Given the description of an element on the screen output the (x, y) to click on. 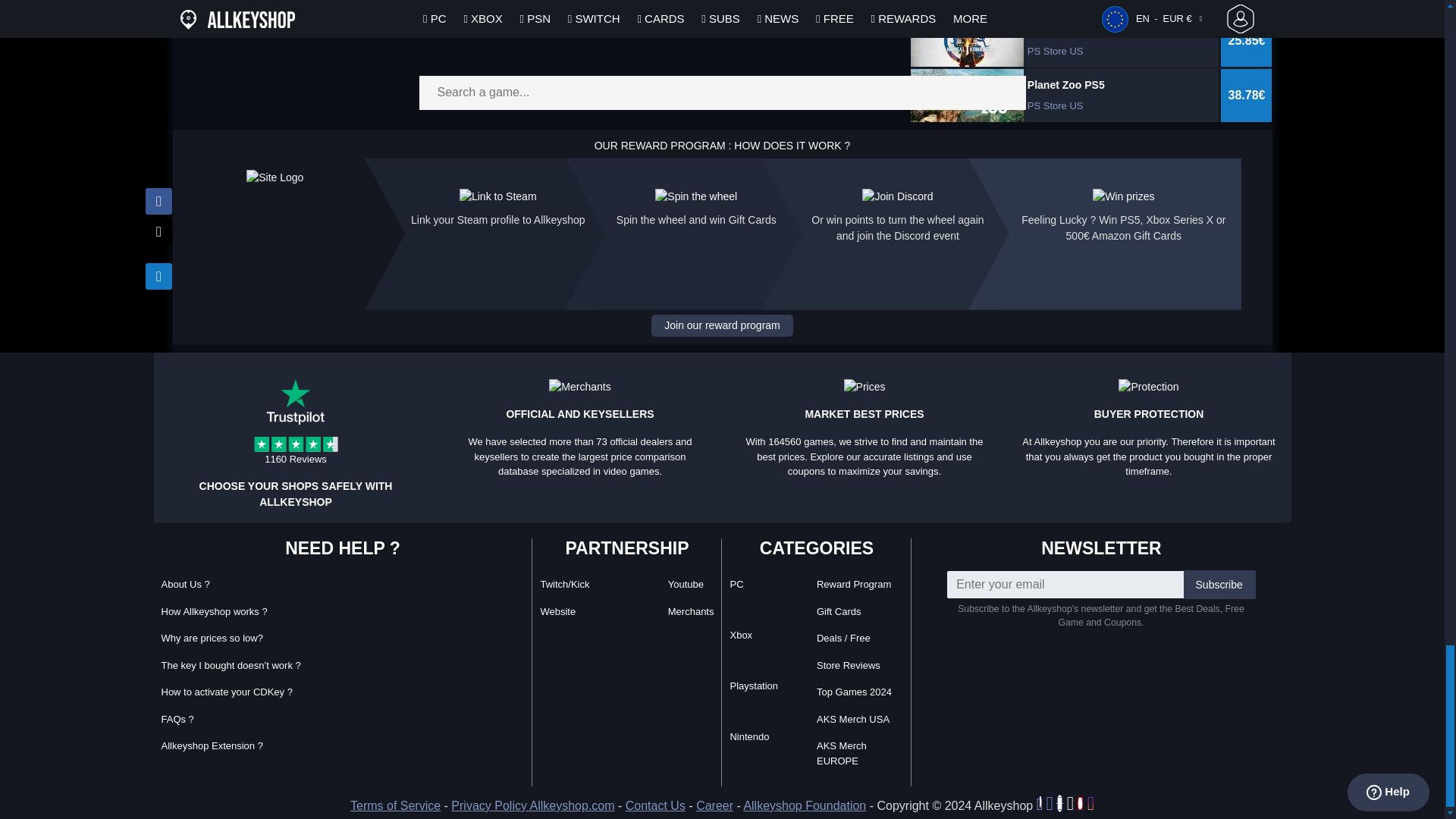
Subscribe (1218, 584)
